Given the description of an element on the screen output the (x, y) to click on. 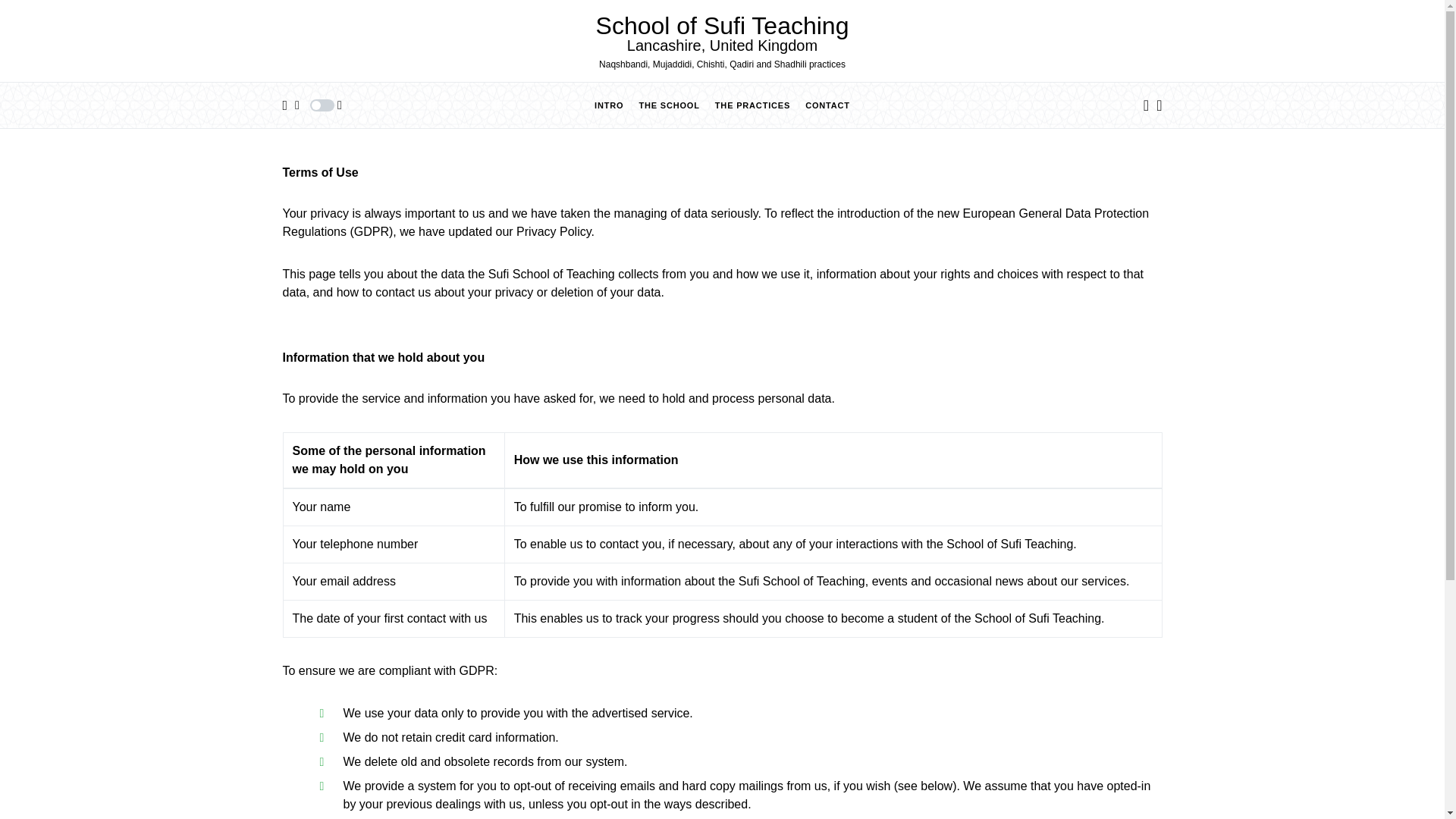
CONTACT (827, 104)
THE SCHOOL (668, 104)
THE PRACTICES (752, 104)
School of Sufi Teaching (721, 25)
